Given the description of an element on the screen output the (x, y) to click on. 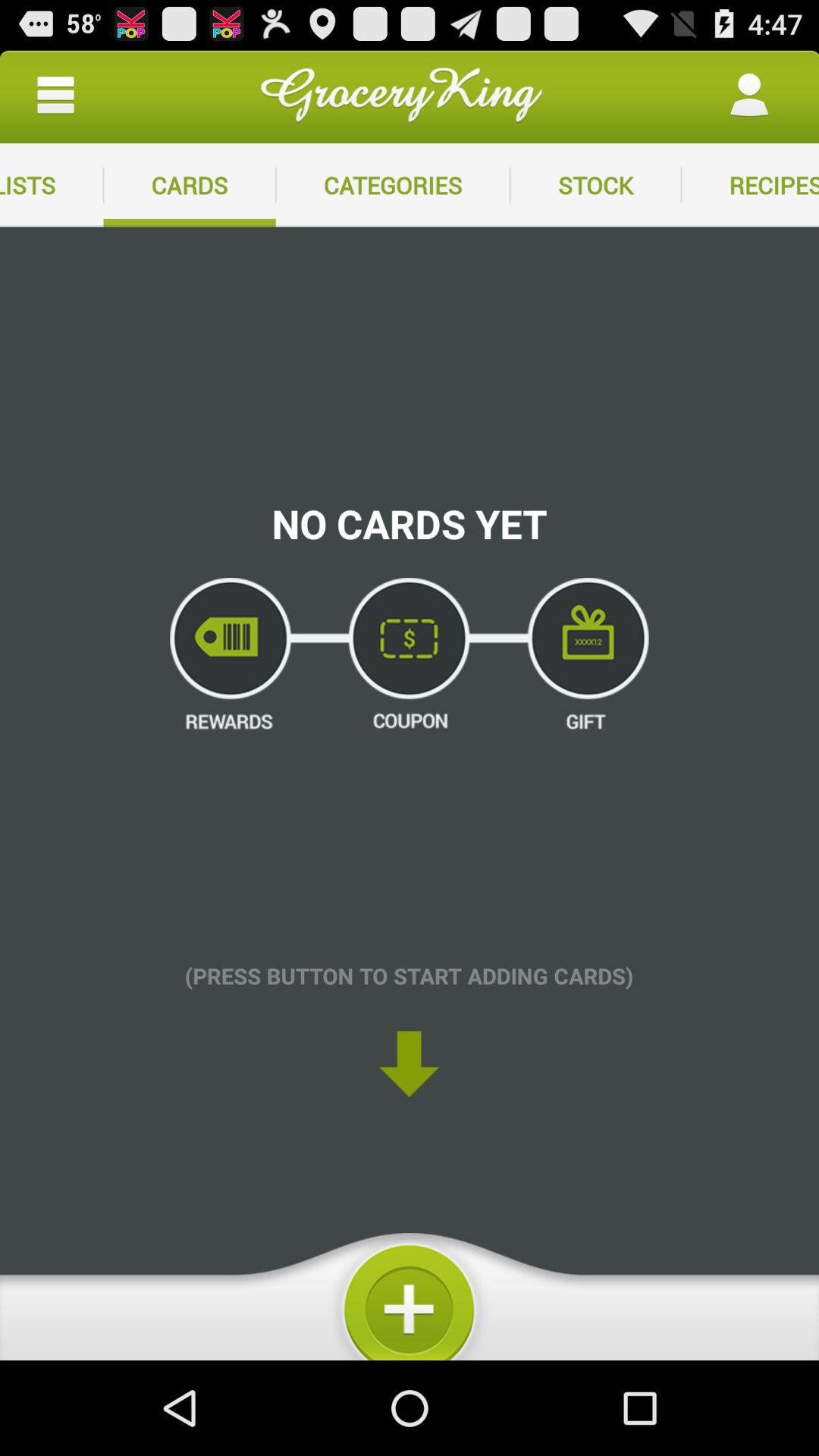
tap the icon to the right of the categories (595, 184)
